Given the description of an element on the screen output the (x, y) to click on. 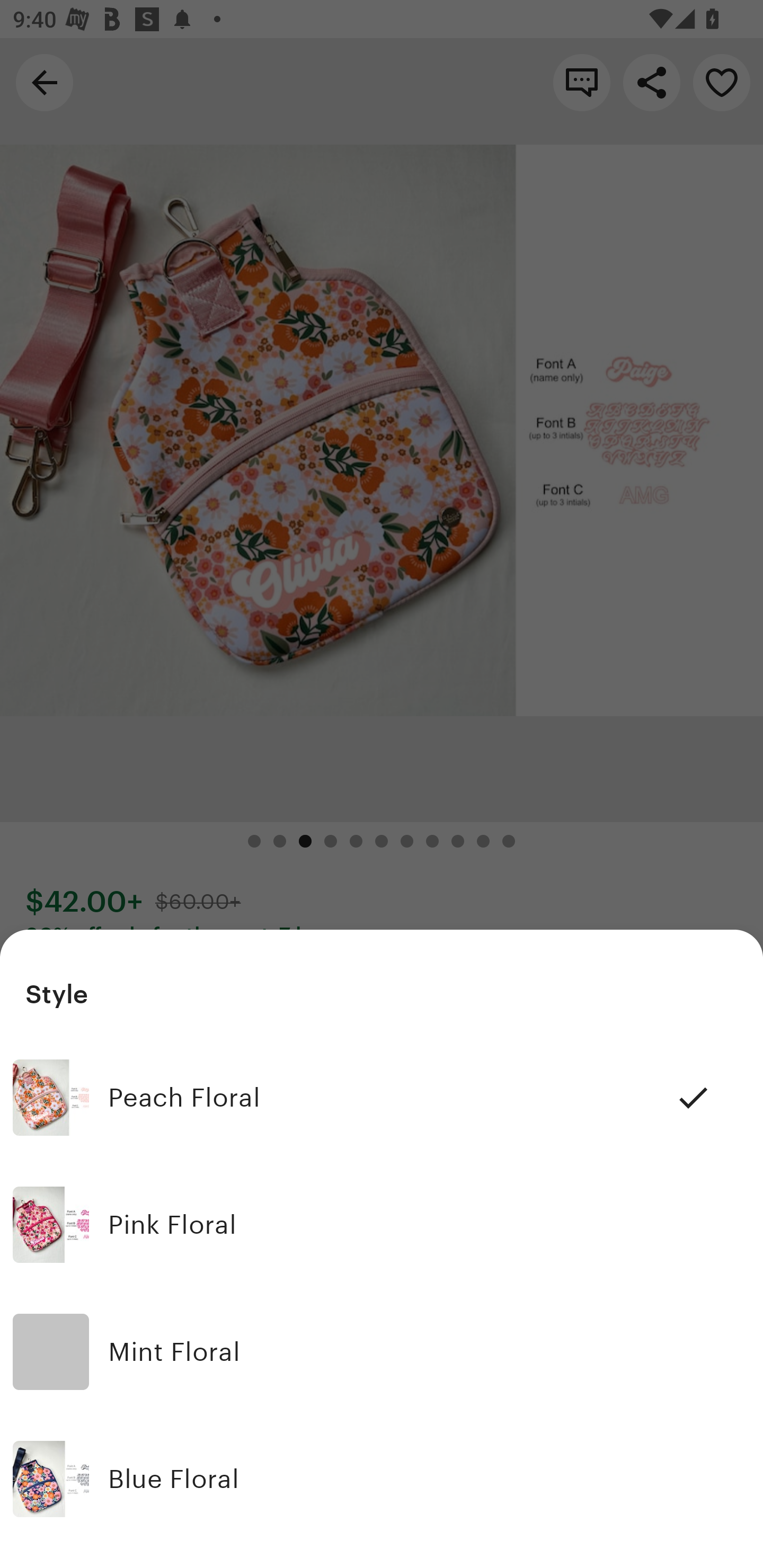
Peach Floral Selected (381, 1097)
Pink Floral (381, 1224)
Mint Floral (381, 1351)
Blue Floral (381, 1478)
